Given the description of an element on the screen output the (x, y) to click on. 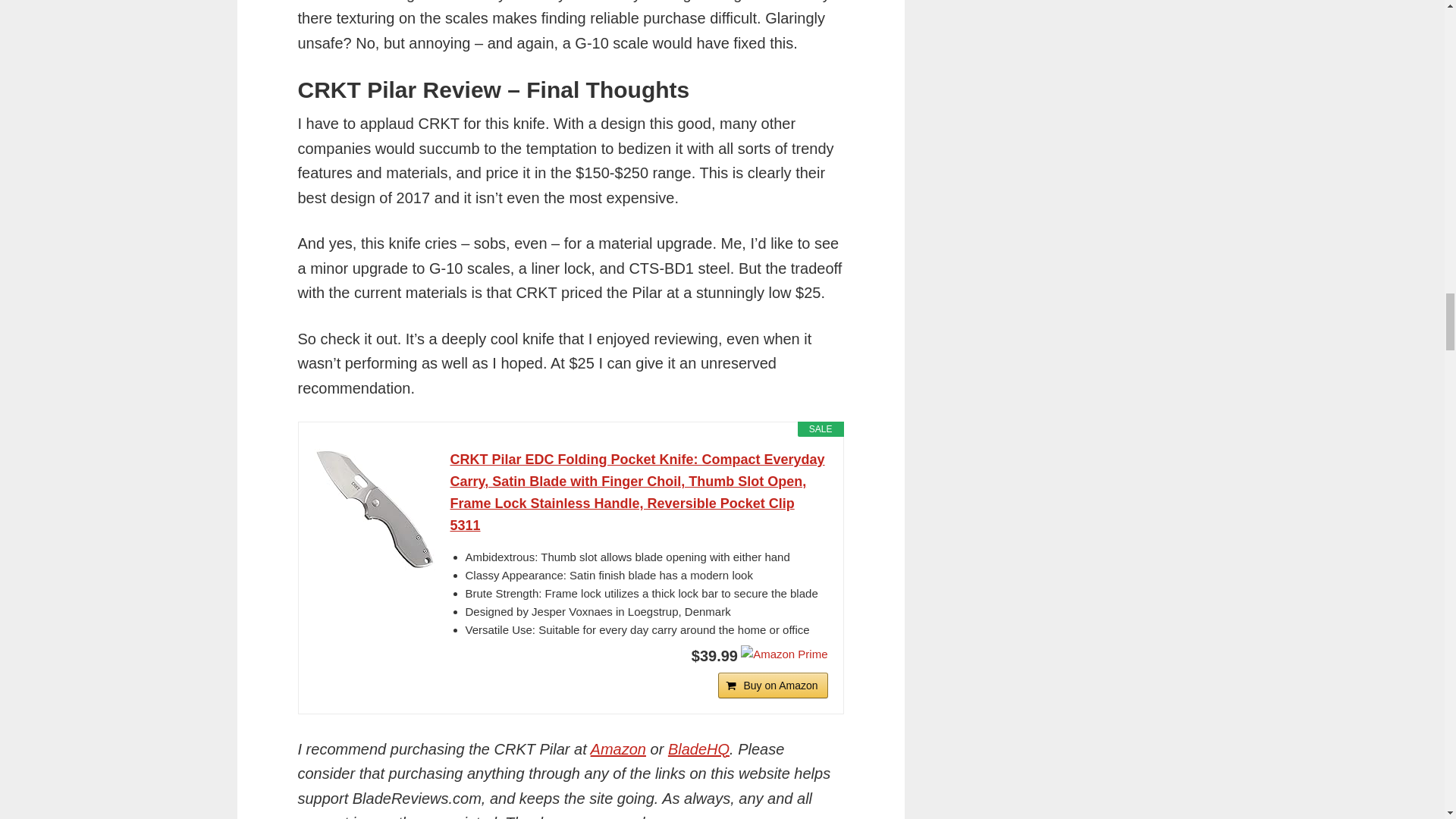
Buy on Amazon (772, 684)
Amazon Prime (784, 653)
